Given the description of an element on the screen output the (x, y) to click on. 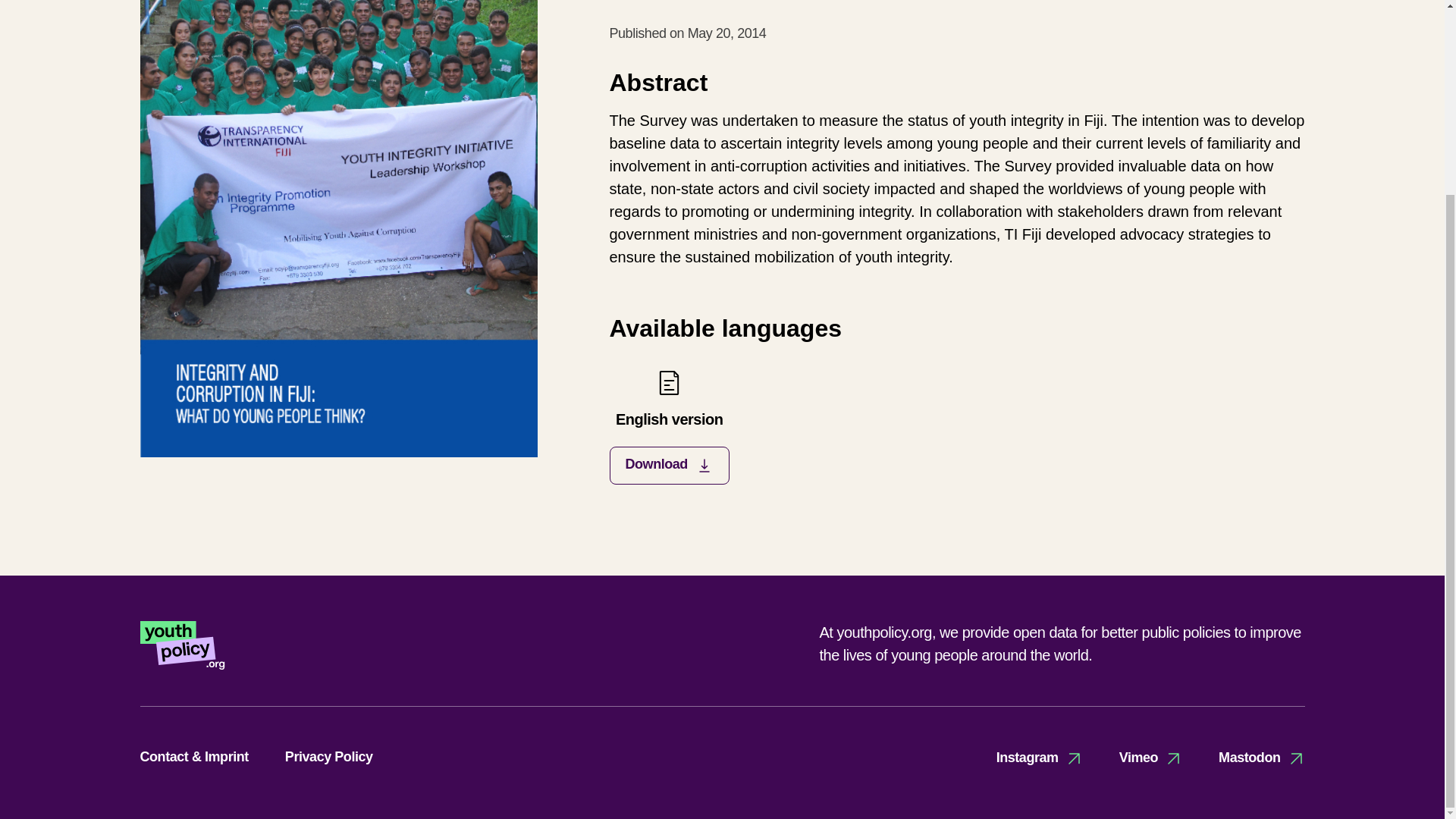
Privacy Policy (669, 425)
Vimeo (328, 757)
Mastodon (1150, 757)
Instagram (1261, 757)
